Given the description of an element on the screen output the (x, y) to click on. 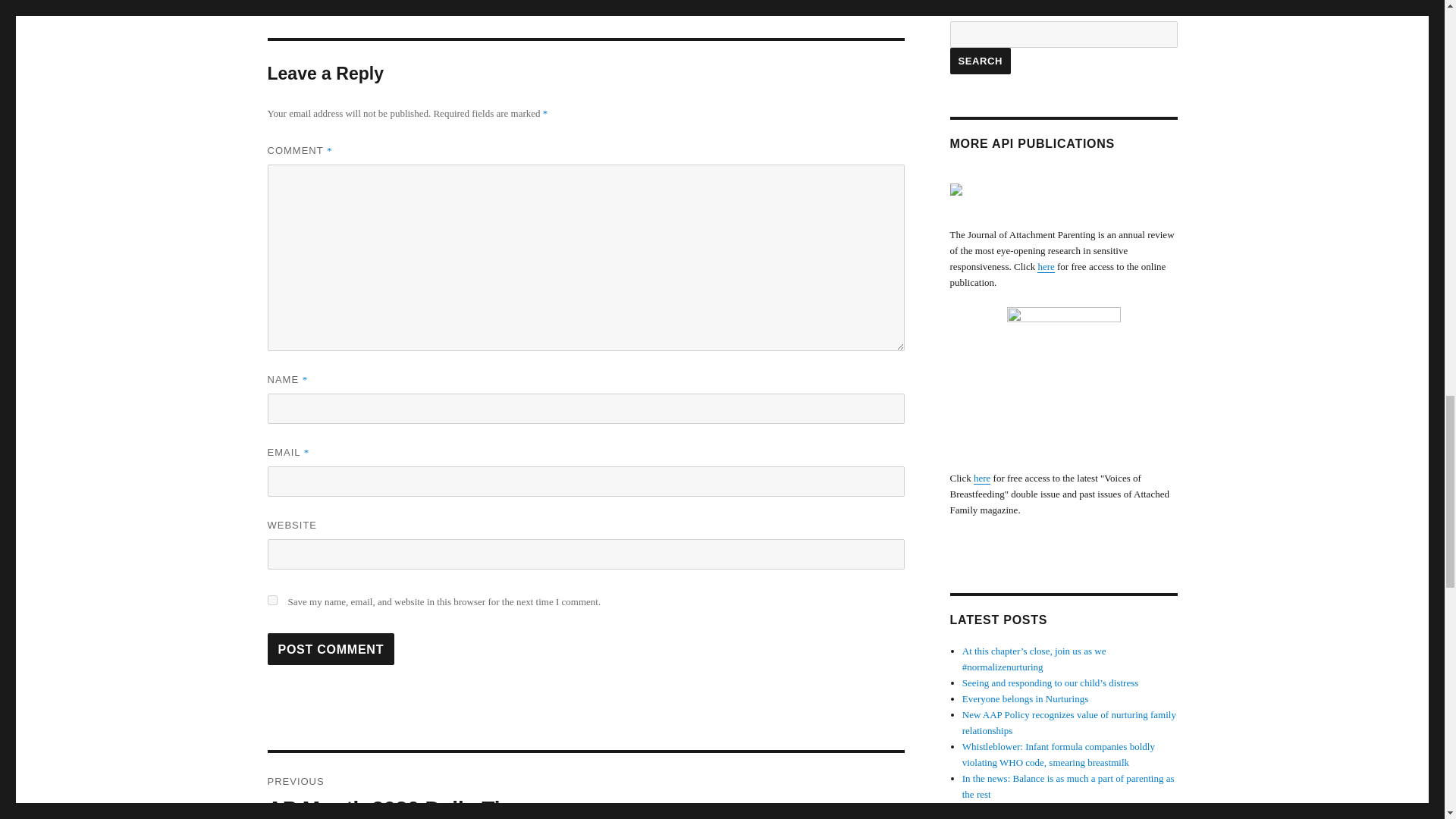
Search (979, 60)
Post Comment (330, 649)
Post Comment (585, 785)
yes (330, 649)
